Given the description of an element on the screen output the (x, y) to click on. 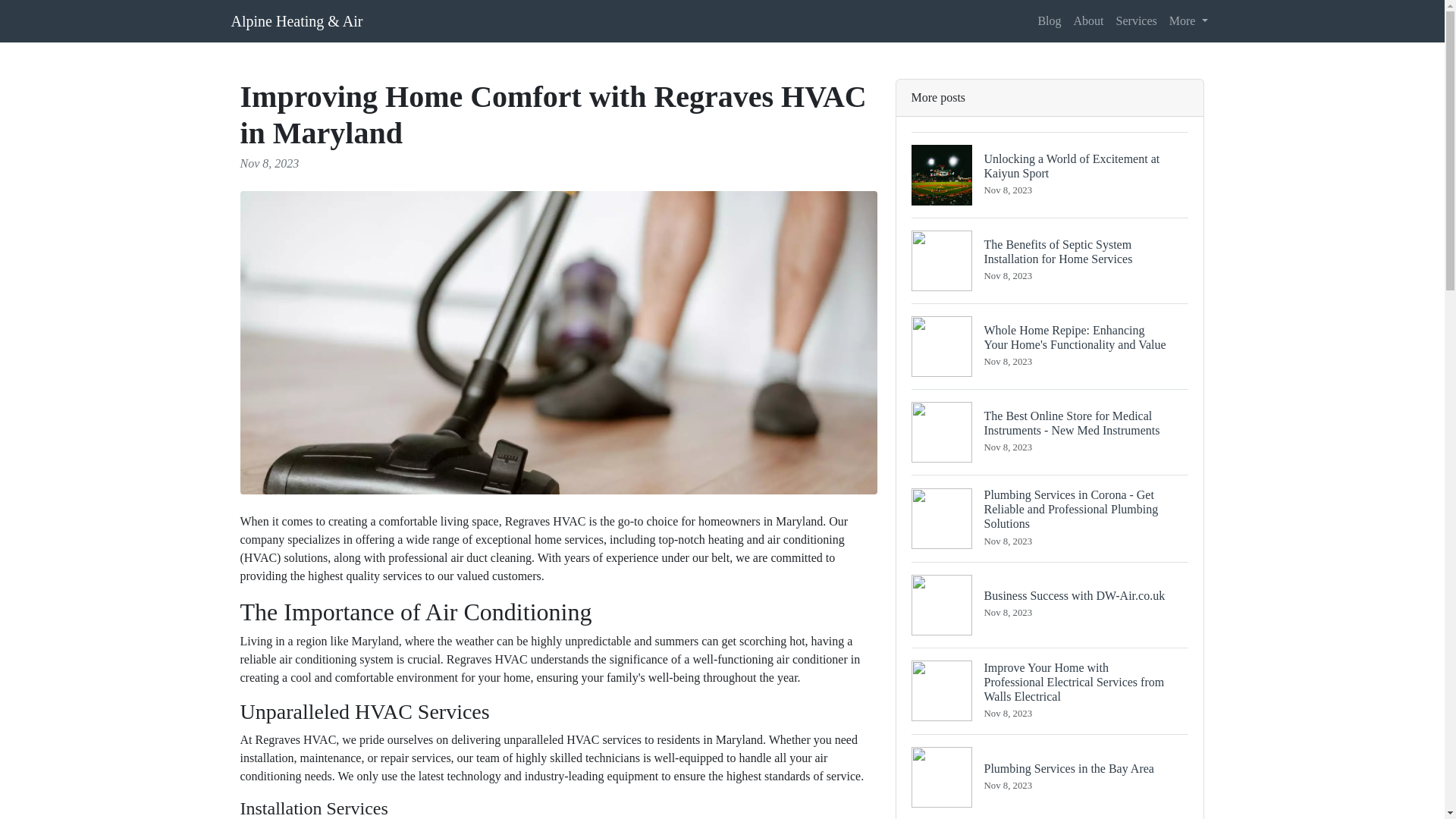
More (1050, 174)
Services (1050, 604)
